Given the description of an element on the screen output the (x, y) to click on. 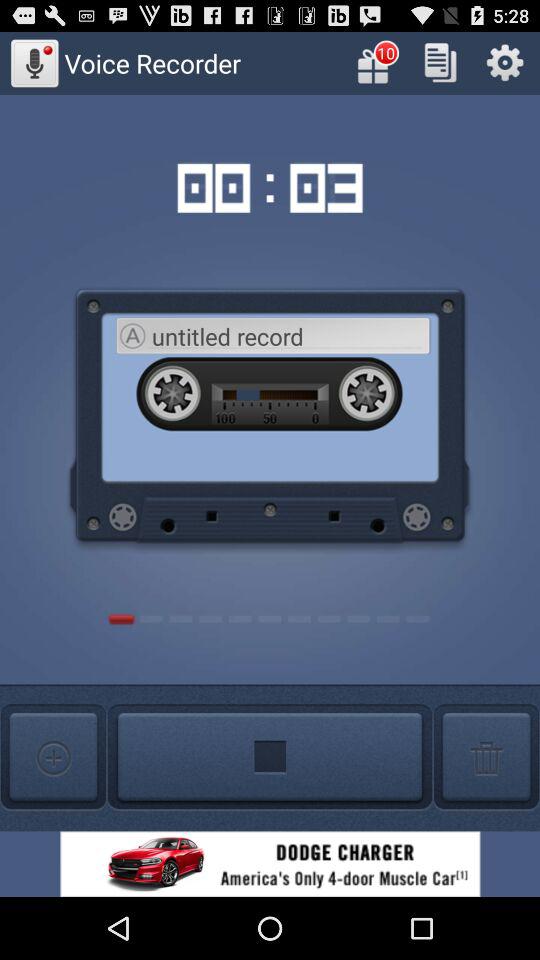
settings option (504, 62)
